Given the description of an element on the screen output the (x, y) to click on. 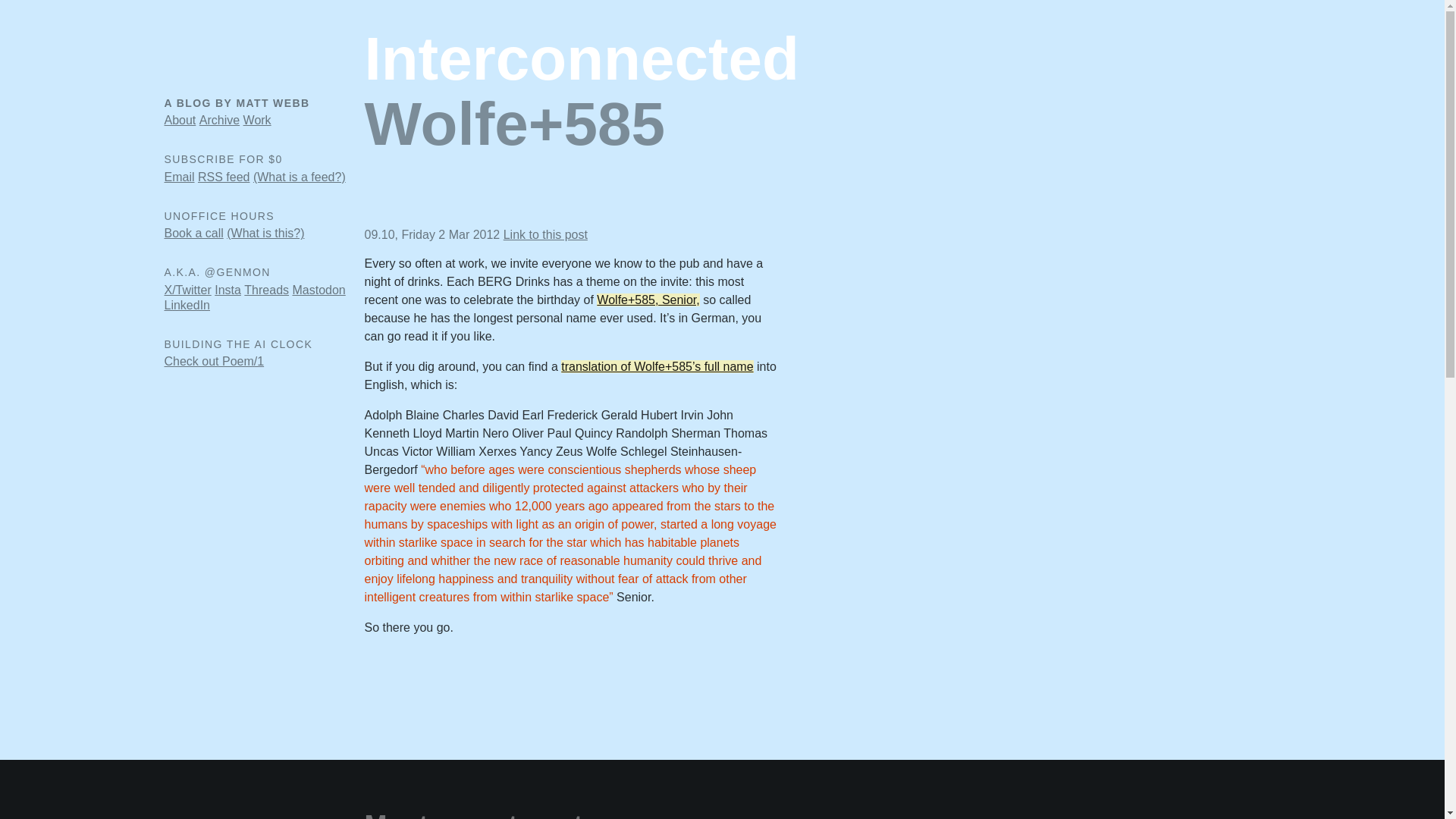
Threads (266, 289)
Mastodon (318, 289)
Link to this post (545, 234)
LinkedIn (186, 305)
Work (256, 119)
Insta (227, 289)
About (179, 119)
Email (178, 176)
Archive (219, 119)
Interconnected (580, 58)
